Given the description of an element on the screen output the (x, y) to click on. 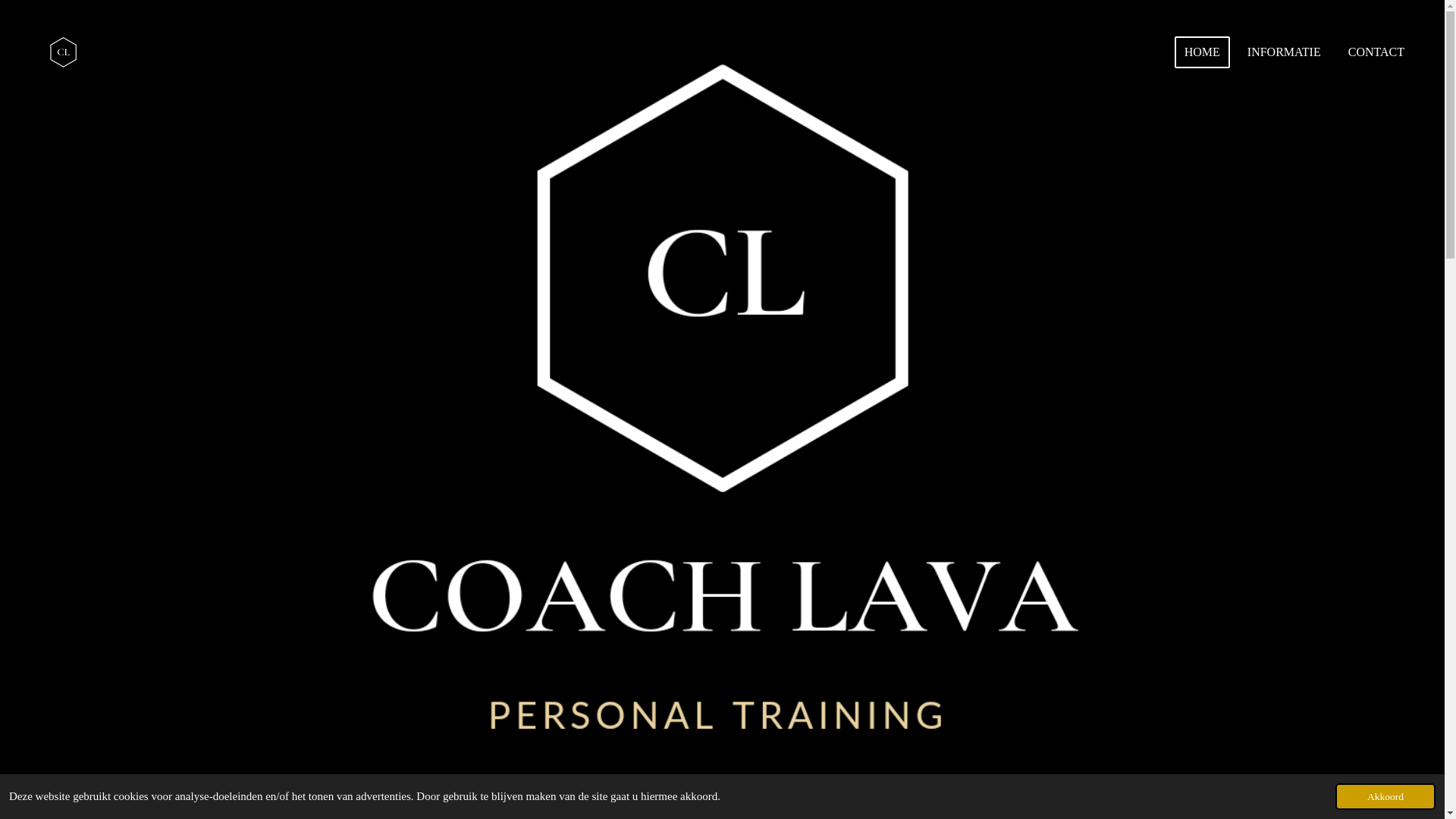
HOME Element type: text (1202, 52)
CONTACT Element type: text (1376, 52)
INFORMATIE Element type: text (1283, 52)
Akkoord Element type: text (1385, 796)
Coach-Lava Element type: hover (63, 51)
